Given the description of an element on the screen output the (x, y) to click on. 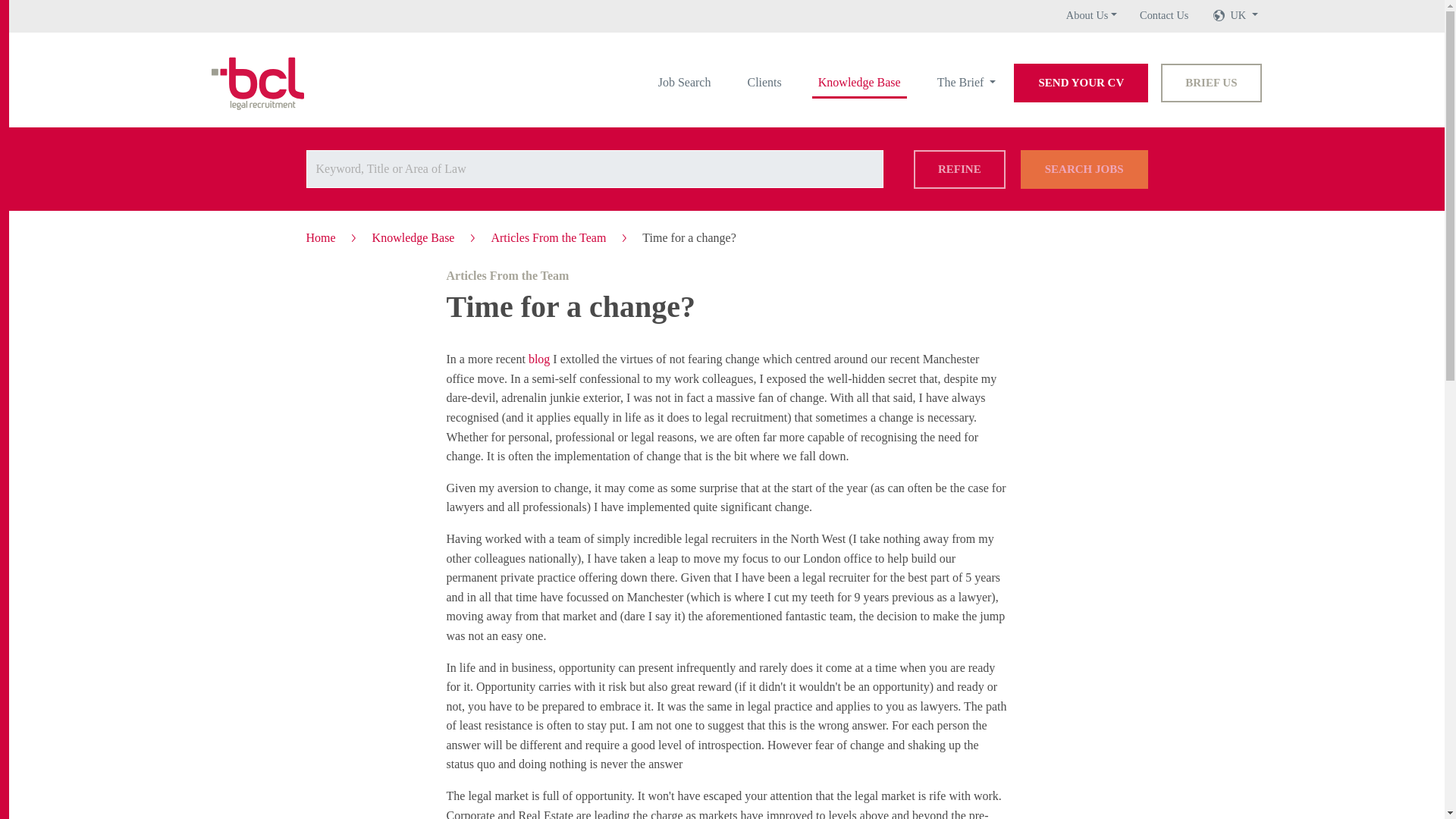
Knowledge Base (859, 82)
Clients (764, 82)
About Us (1090, 15)
UK (1243, 15)
BRIEF US (1210, 82)
The Brief (967, 82)
SEND YOUR CV (1080, 82)
Contact Us (1164, 15)
Job Search (684, 82)
